Given the description of an element on the screen output the (x, y) to click on. 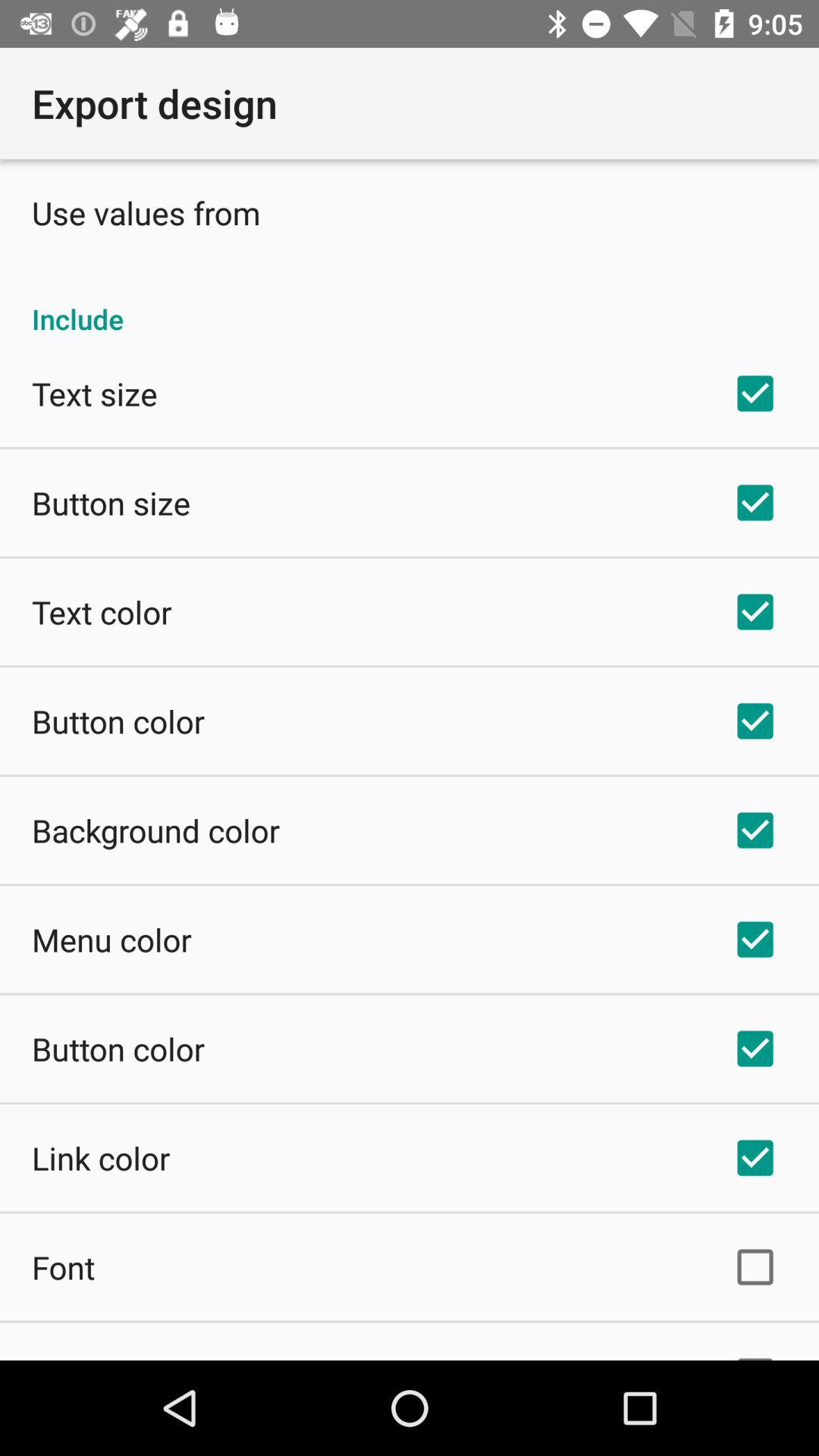
jump to the include item (409, 302)
